Given the description of an element on the screen output the (x, y) to click on. 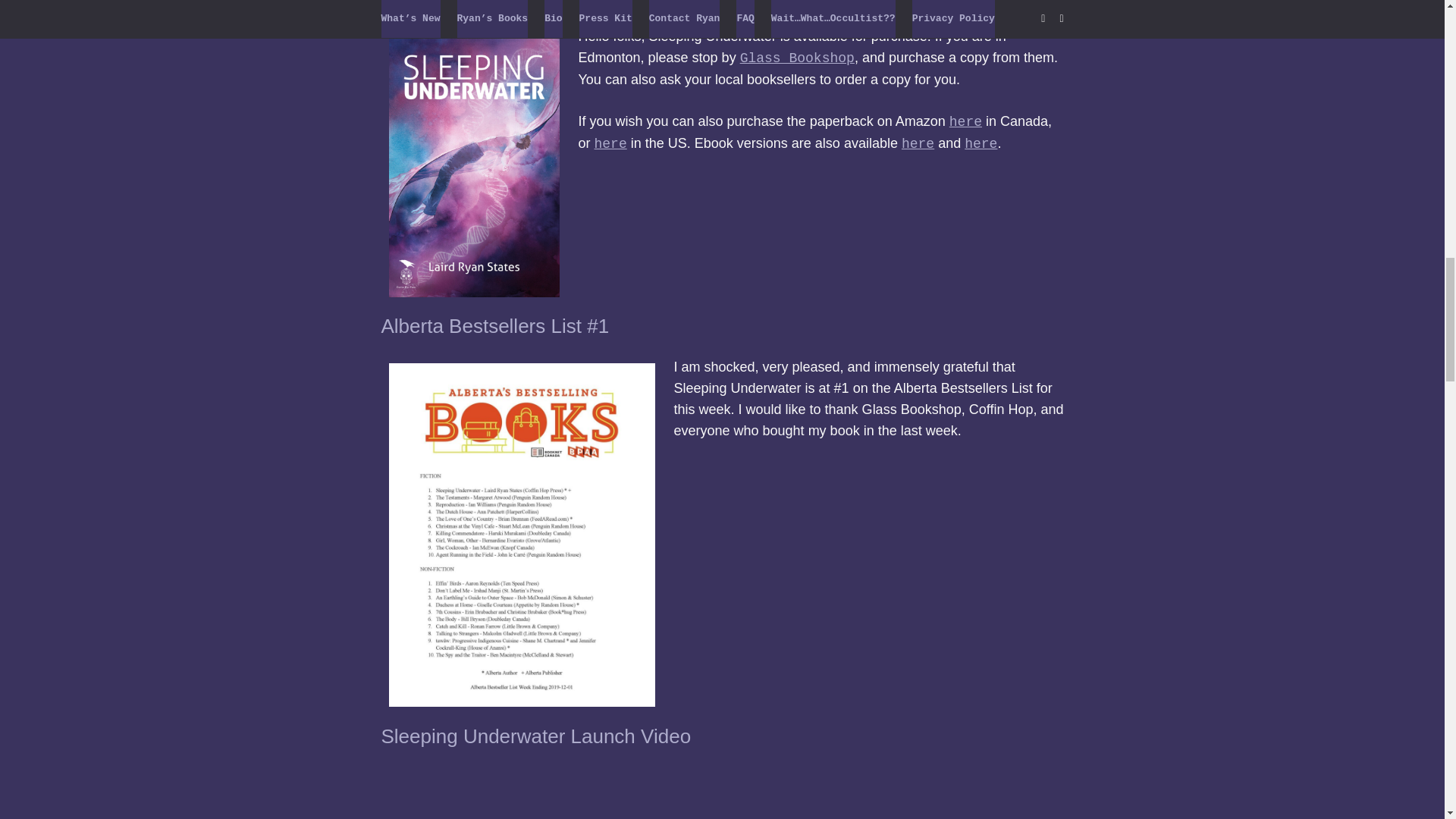
Glass Bookshop (796, 58)
here (610, 143)
here (917, 143)
here (980, 143)
here (965, 121)
